Given the description of an element on the screen output the (x, y) to click on. 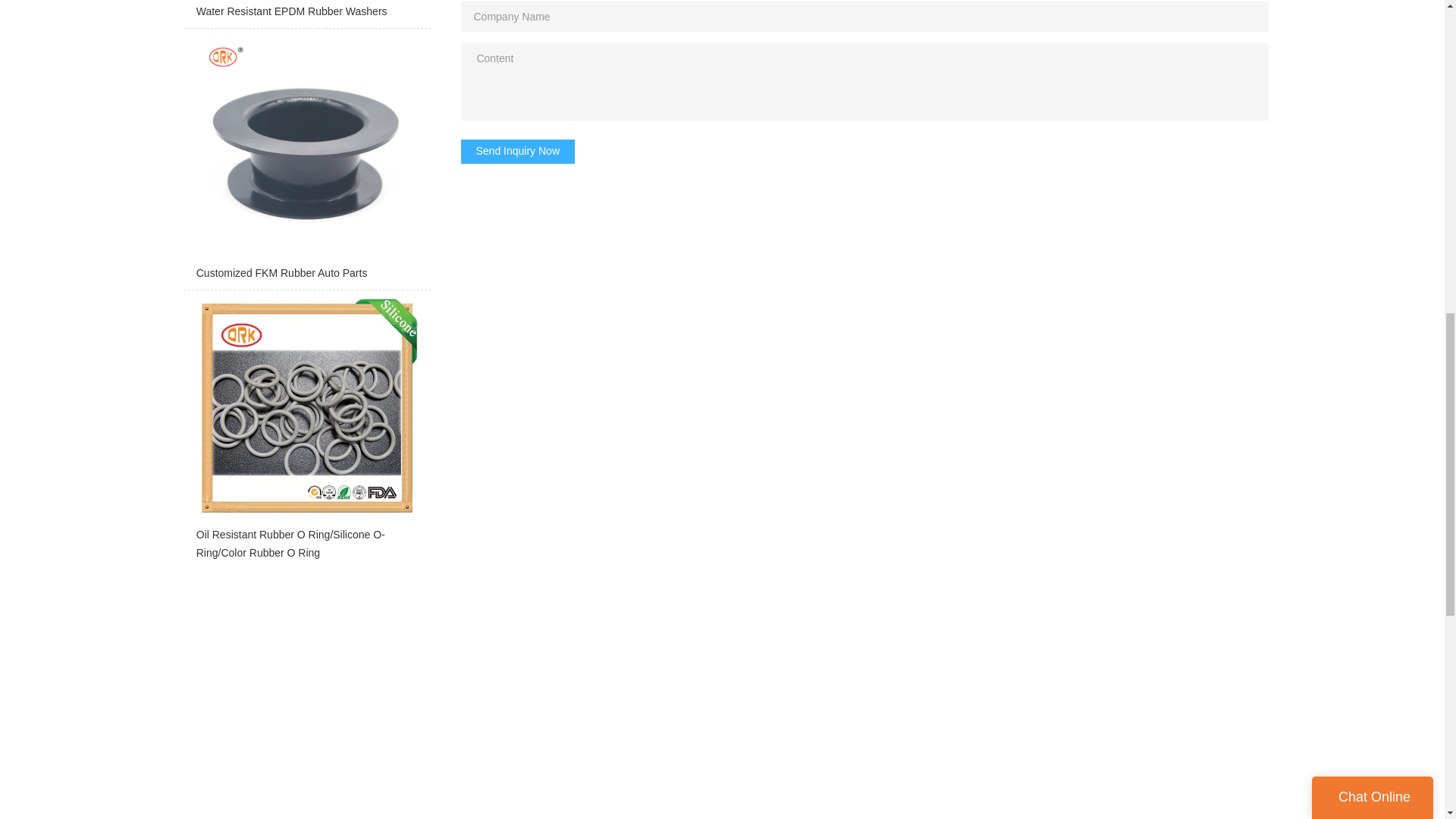
Send Inquiry Now (518, 151)
Customized FKM Rubber Auto Parts (306, 162)
Water Resistant EPDM Rubber Washers (306, 13)
